Given the description of an element on the screen output the (x, y) to click on. 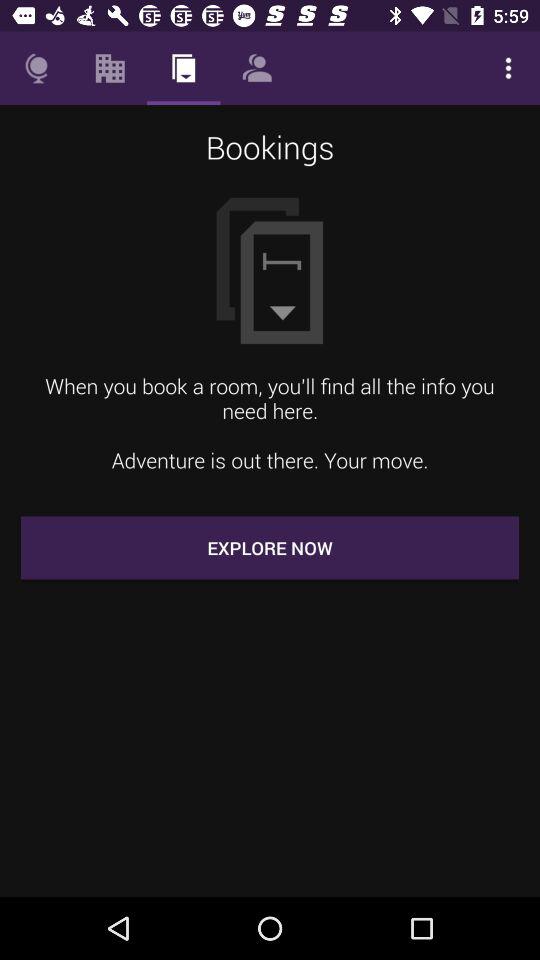
scroll until the explore now icon (270, 547)
